Given the description of an element on the screen output the (x, y) to click on. 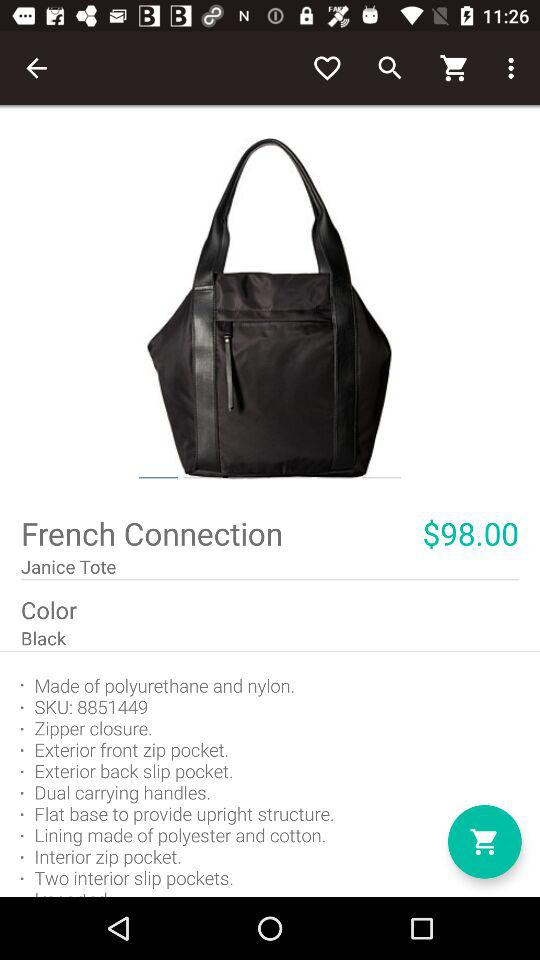
select the item at the top left corner (36, 68)
